Given the description of an element on the screen output the (x, y) to click on. 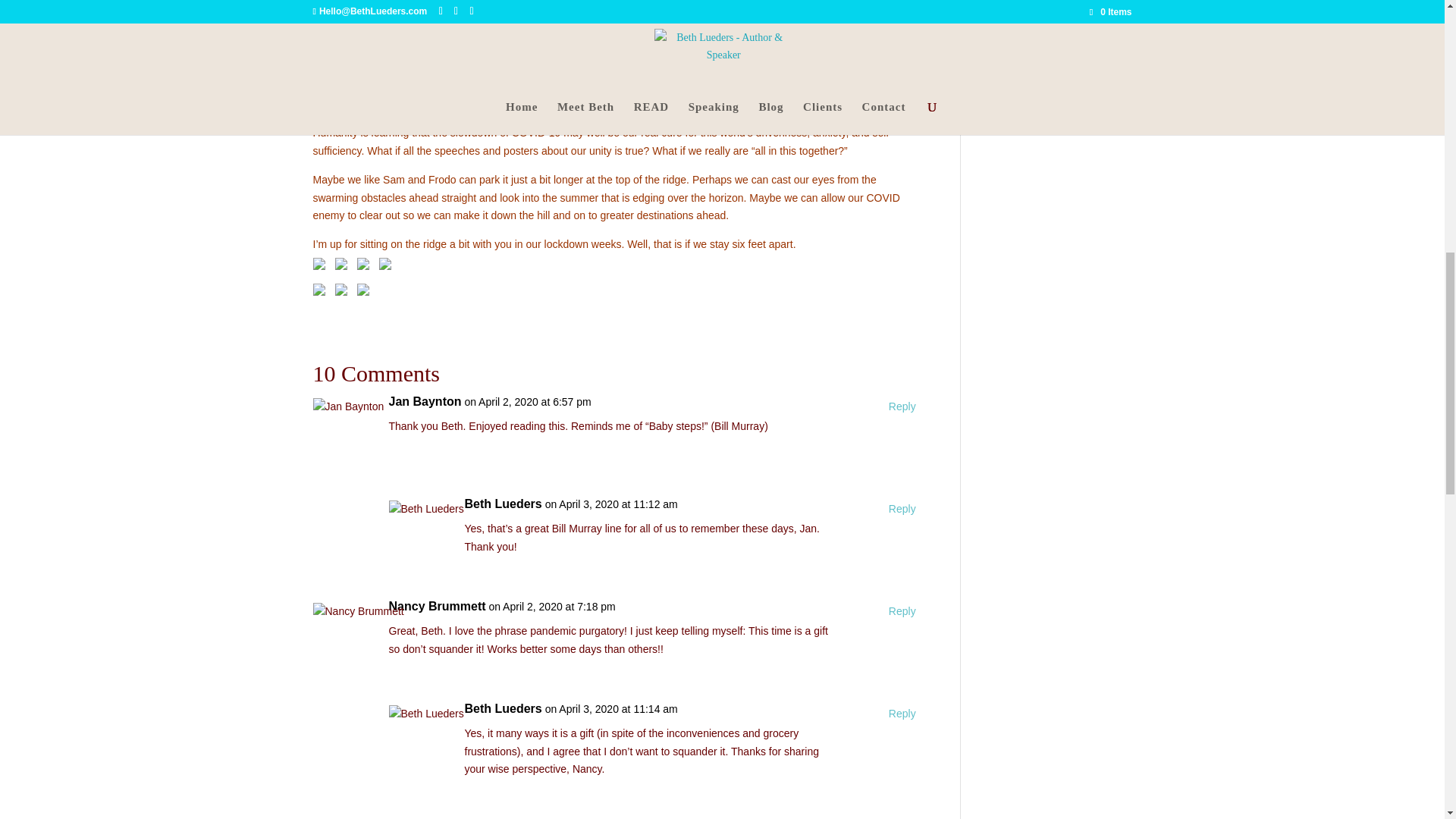
figured out today (468, 19)
Follow us on Facebook (321, 266)
Follow us on Twitter (343, 266)
Share on Twitter (343, 292)
Nancy Brummett (436, 606)
Reply (901, 407)
communities are stepping up (680, 68)
Reply (901, 714)
Reply (901, 509)
Subscribe to our RSS Feed (387, 266)
Find us on Linkedin (365, 266)
Reply (901, 611)
